Given the description of an element on the screen output the (x, y) to click on. 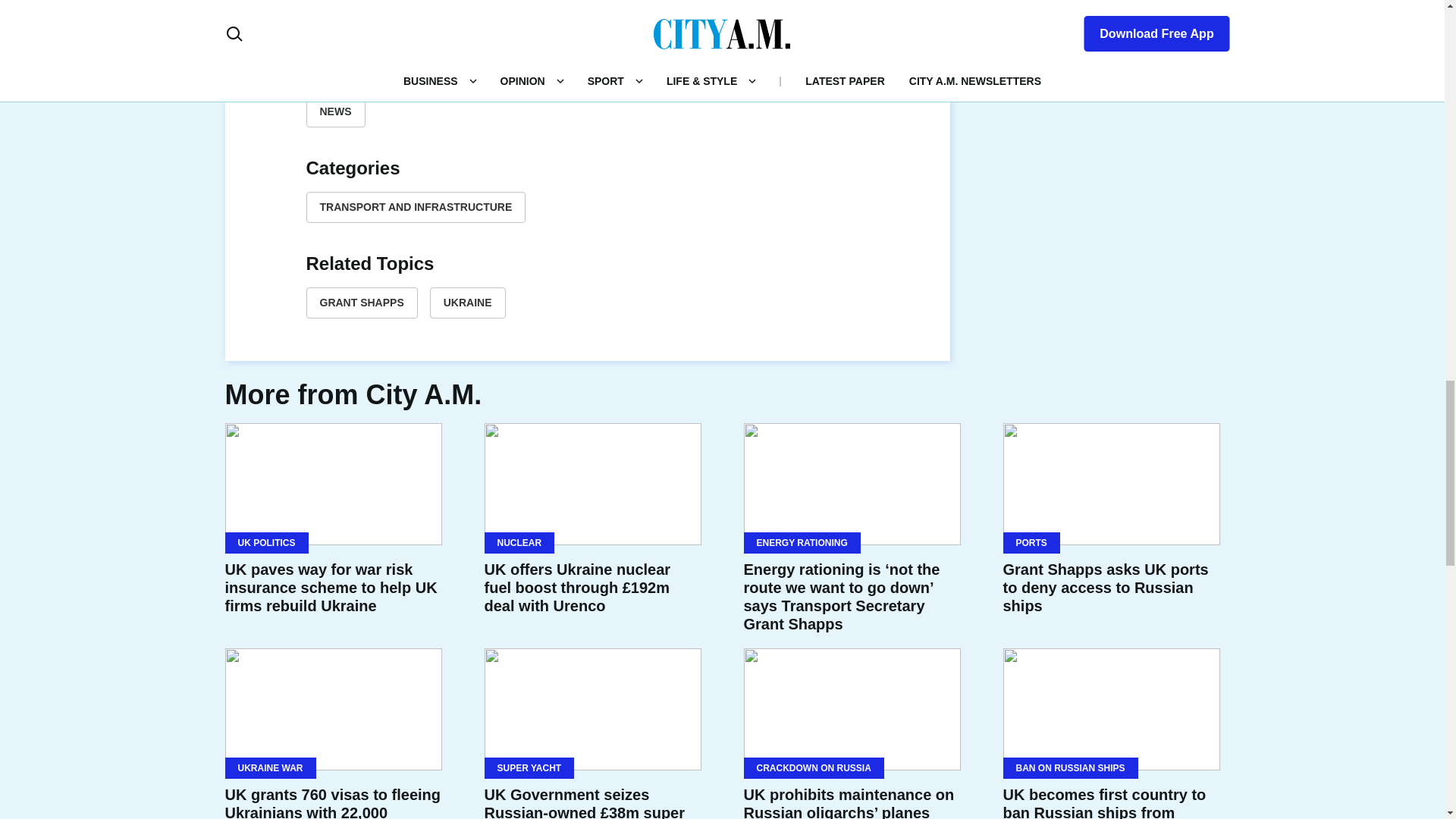
X (550, 23)
WhatsApp (622, 23)
LinkedIn (586, 23)
Email (659, 23)
Facebook (513, 23)
